Given the description of an element on the screen output the (x, y) to click on. 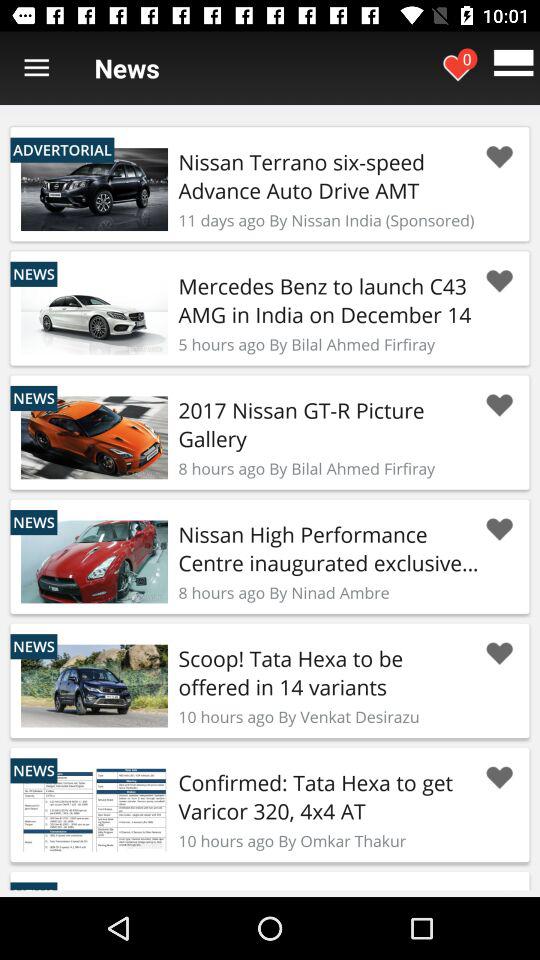
open menu list (36, 68)
